Given the description of an element on the screen output the (x, y) to click on. 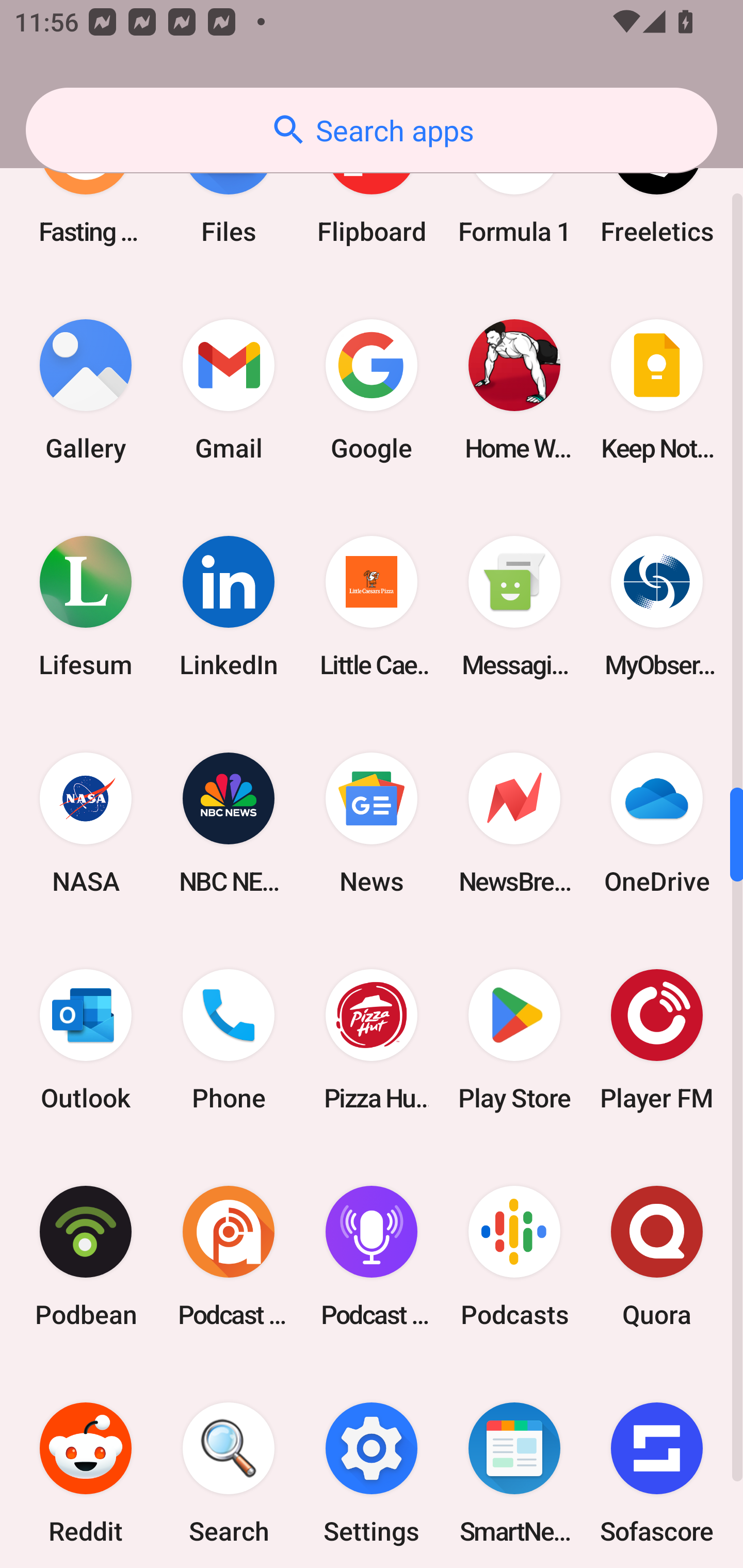
  Search apps (371, 130)
Gallery (85, 390)
Gmail (228, 390)
Google (371, 390)
Home Workout (514, 390)
Keep Notes (656, 390)
Lifesum (85, 606)
LinkedIn (228, 606)
Little Caesars Pizza (371, 606)
Messaging (514, 606)
MyObservatory (656, 606)
NASA (85, 823)
NBC NEWS (228, 823)
News (371, 823)
NewsBreak (514, 823)
OneDrive (656, 823)
Outlook (85, 1039)
Phone (228, 1039)
Pizza Hut HK & Macau (371, 1039)
Play Store (514, 1039)
Player FM (656, 1039)
Podbean (85, 1255)
Podcast Addict (228, 1255)
Podcast Player (371, 1255)
Podcasts (514, 1255)
Quora (656, 1255)
Reddit (85, 1466)
Search (228, 1466)
Settings (371, 1466)
SmartNews (514, 1466)
Sofascore (656, 1466)
